Given the description of an element on the screen output the (x, y) to click on. 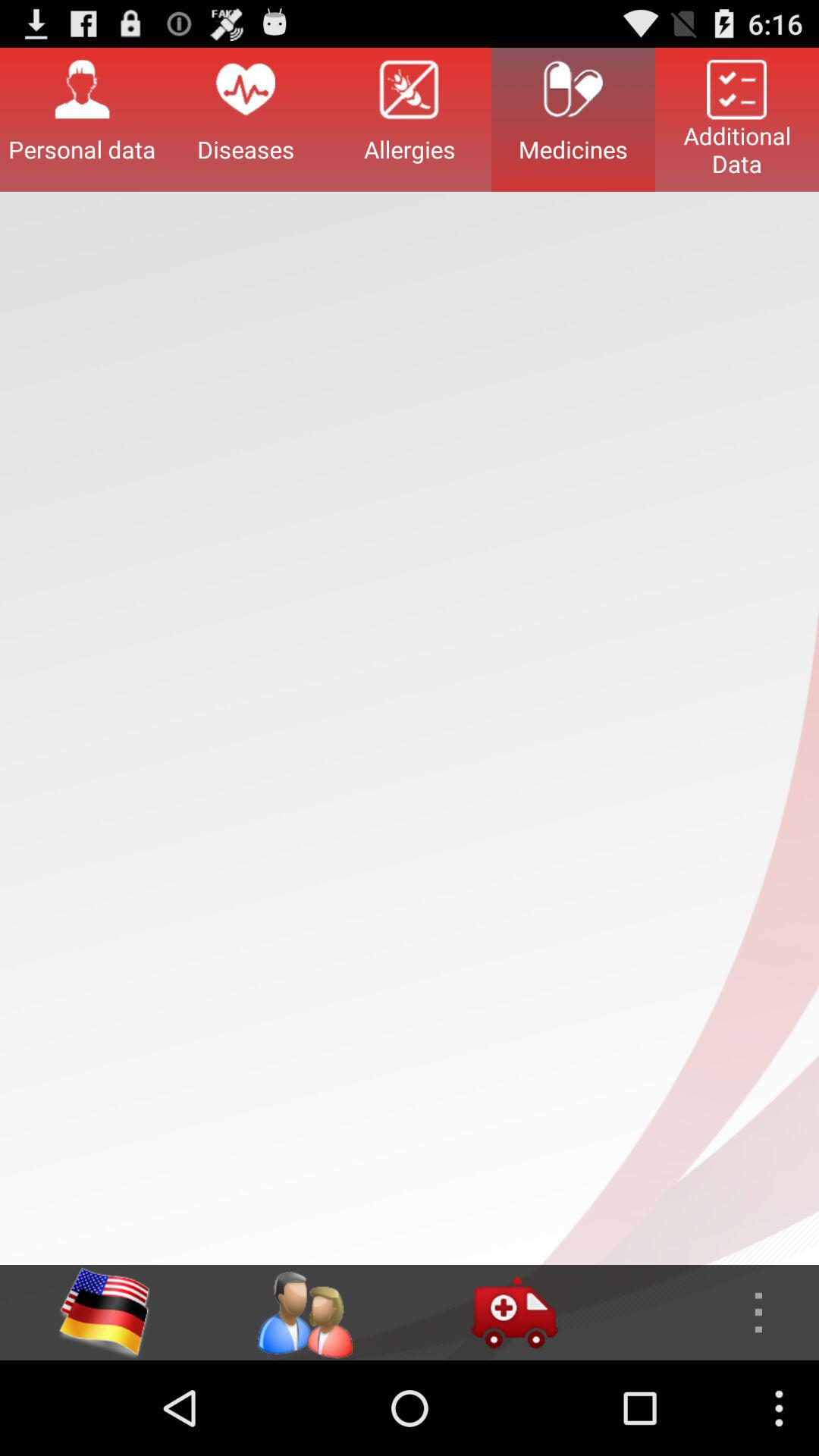
select allergies (409, 119)
